Given the description of an element on the screen output the (x, y) to click on. 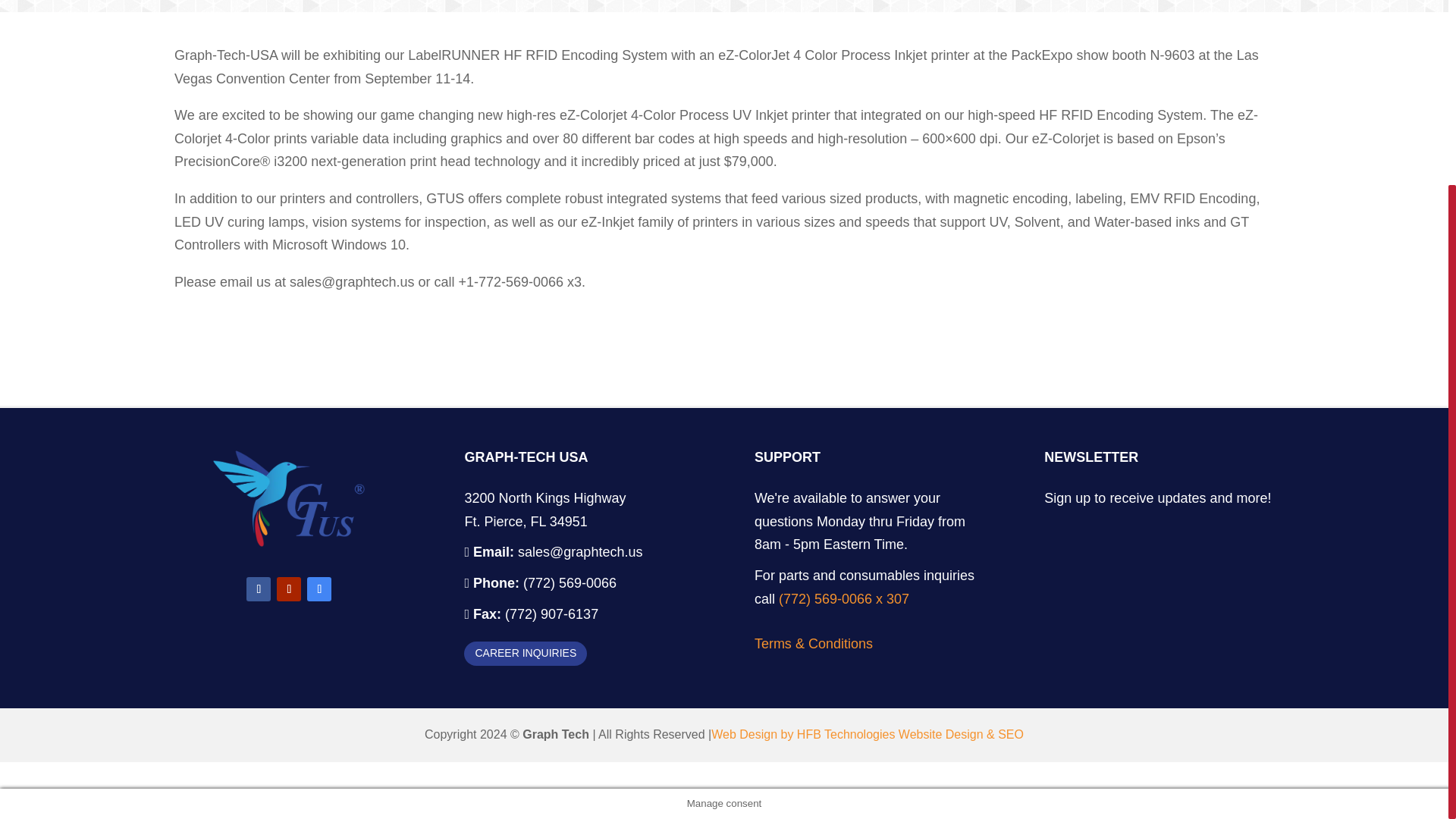
Graph-Tech-Logo (288, 541)
Follow on Google (319, 589)
Follow on Youtube (288, 589)
Follow on Facebook (258, 589)
